Given the description of an element on the screen output the (x, y) to click on. 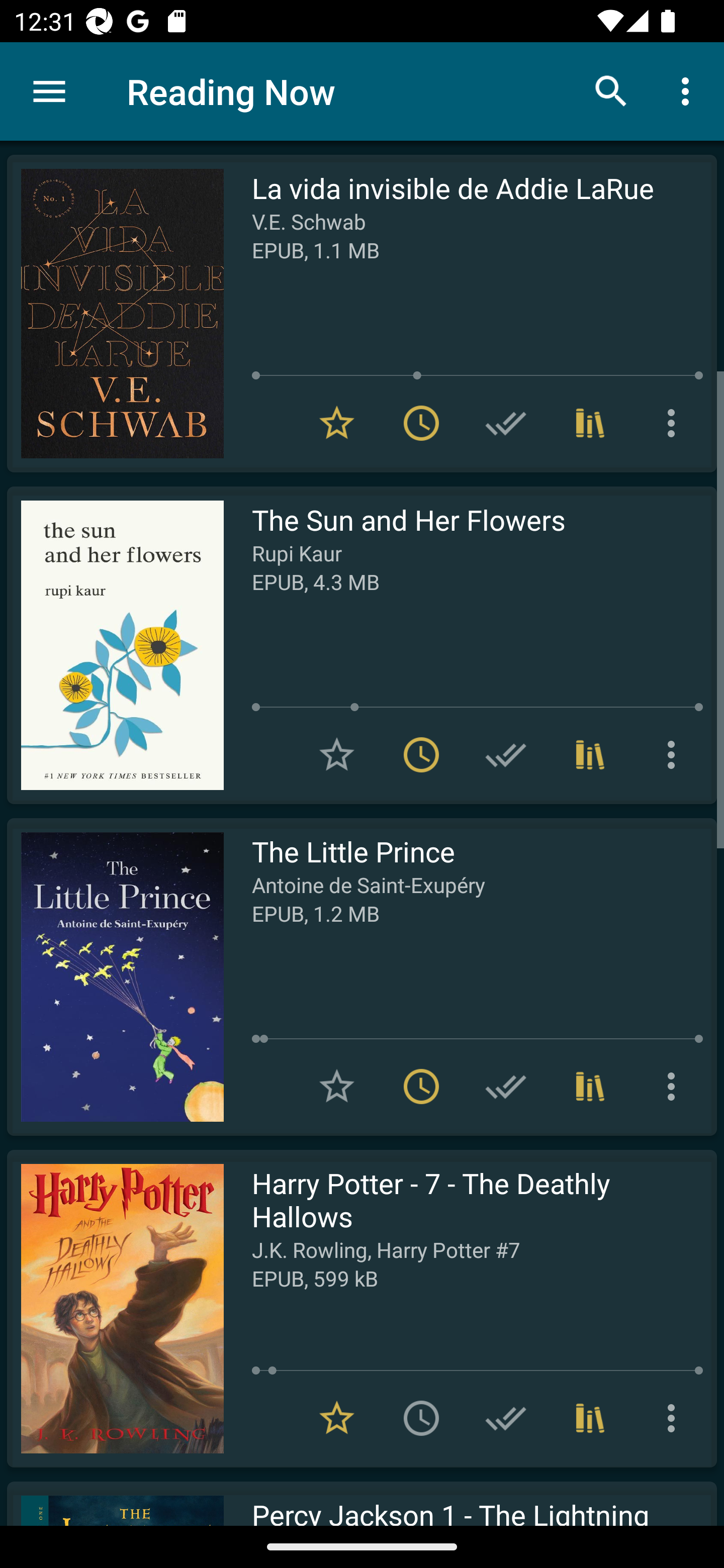
Menu (49, 91)
Search books & documents (611, 90)
More options (688, 90)
Read La vida invisible de Addie LaRue (115, 313)
Remove from Favorites (336, 423)
Remove from To read (421, 423)
Add to Have read (505, 423)
Collections (1) (590, 423)
More options (674, 423)
Read The Sun and Her Flowers (115, 645)
Add to Favorites (336, 753)
Remove from To read (421, 753)
Add to Have read (505, 753)
Collections (1) (590, 753)
More options (674, 753)
Read The Little Prince (115, 976)
Add to Favorites (336, 1086)
